Given the description of an element on the screen output the (x, y) to click on. 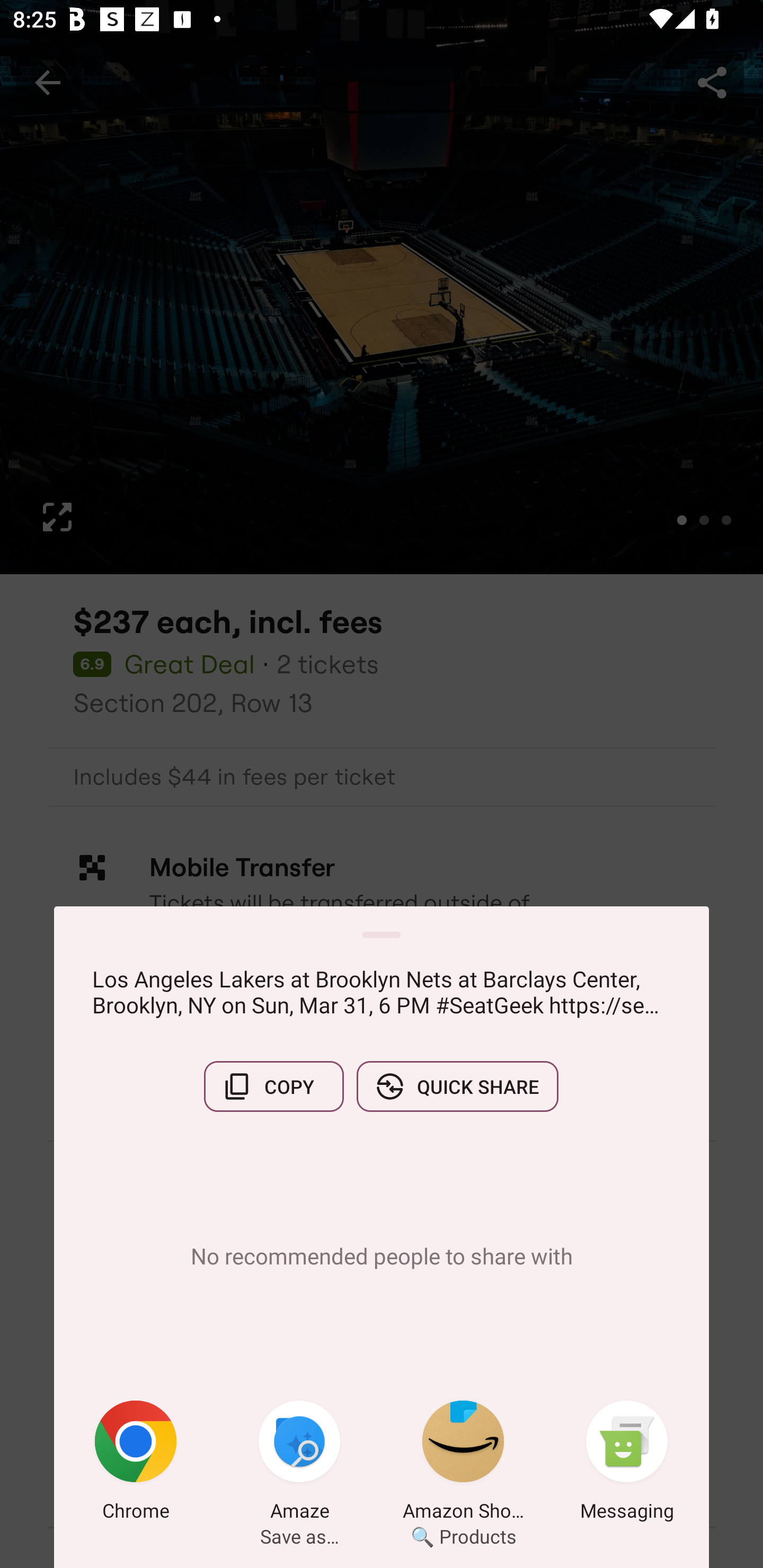
COPY (273, 1086)
QUICK SHARE (457, 1086)
Chrome (135, 1463)
Amaze Save as… (299, 1463)
Amazon Shopping 🔍 Products (463, 1463)
Messaging (626, 1463)
